Given the description of an element on the screen output the (x, y) to click on. 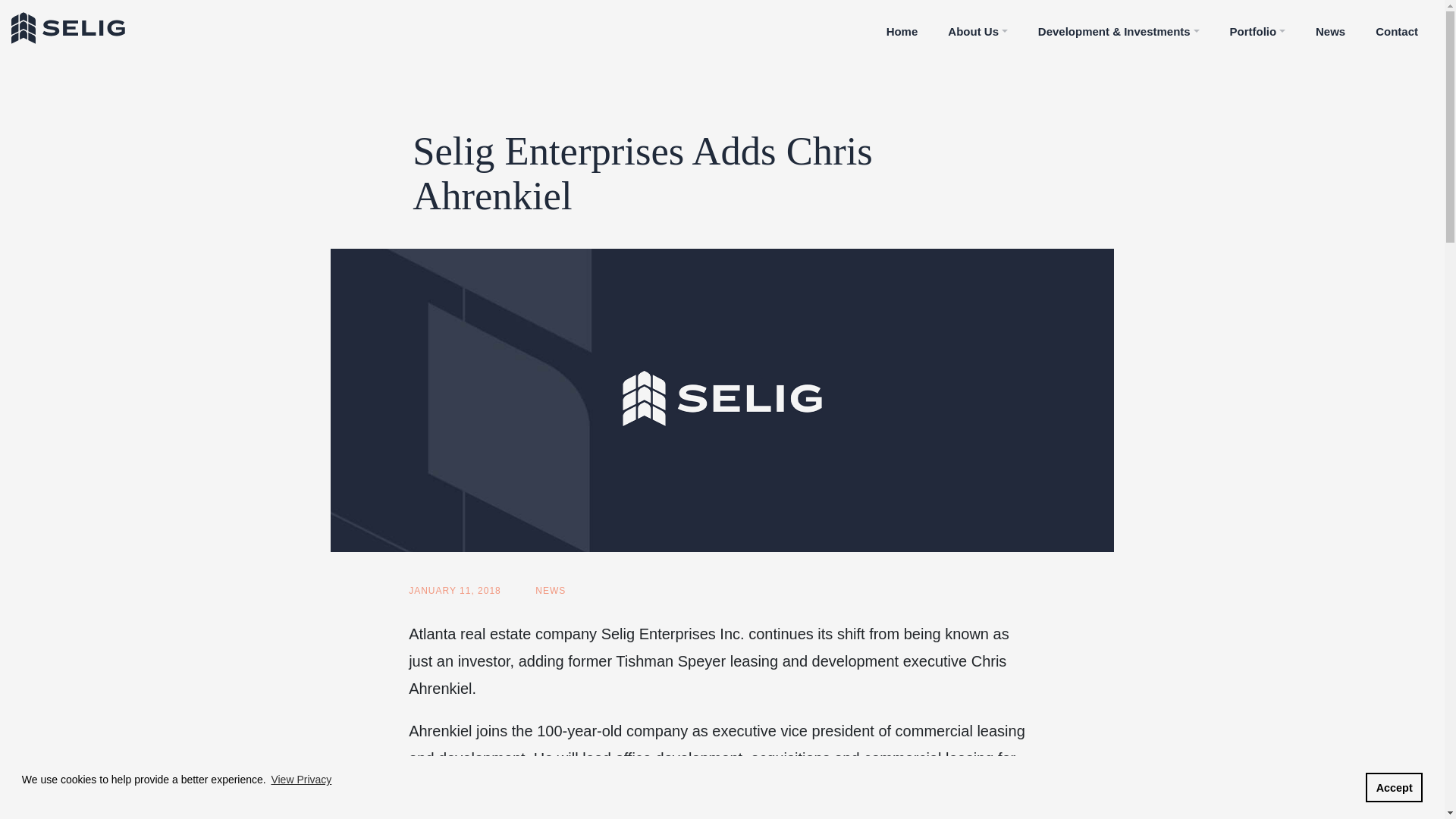
News (1329, 27)
Portfolio (1257, 27)
View Privacy (301, 779)
About Us (977, 27)
Portfolio (1257, 27)
Accept (1393, 788)
About Us (977, 27)
Contact (1395, 27)
Home (901, 27)
Contact (1395, 27)
Home (901, 27)
News (1329, 27)
